Given the description of an element on the screen output the (x, y) to click on. 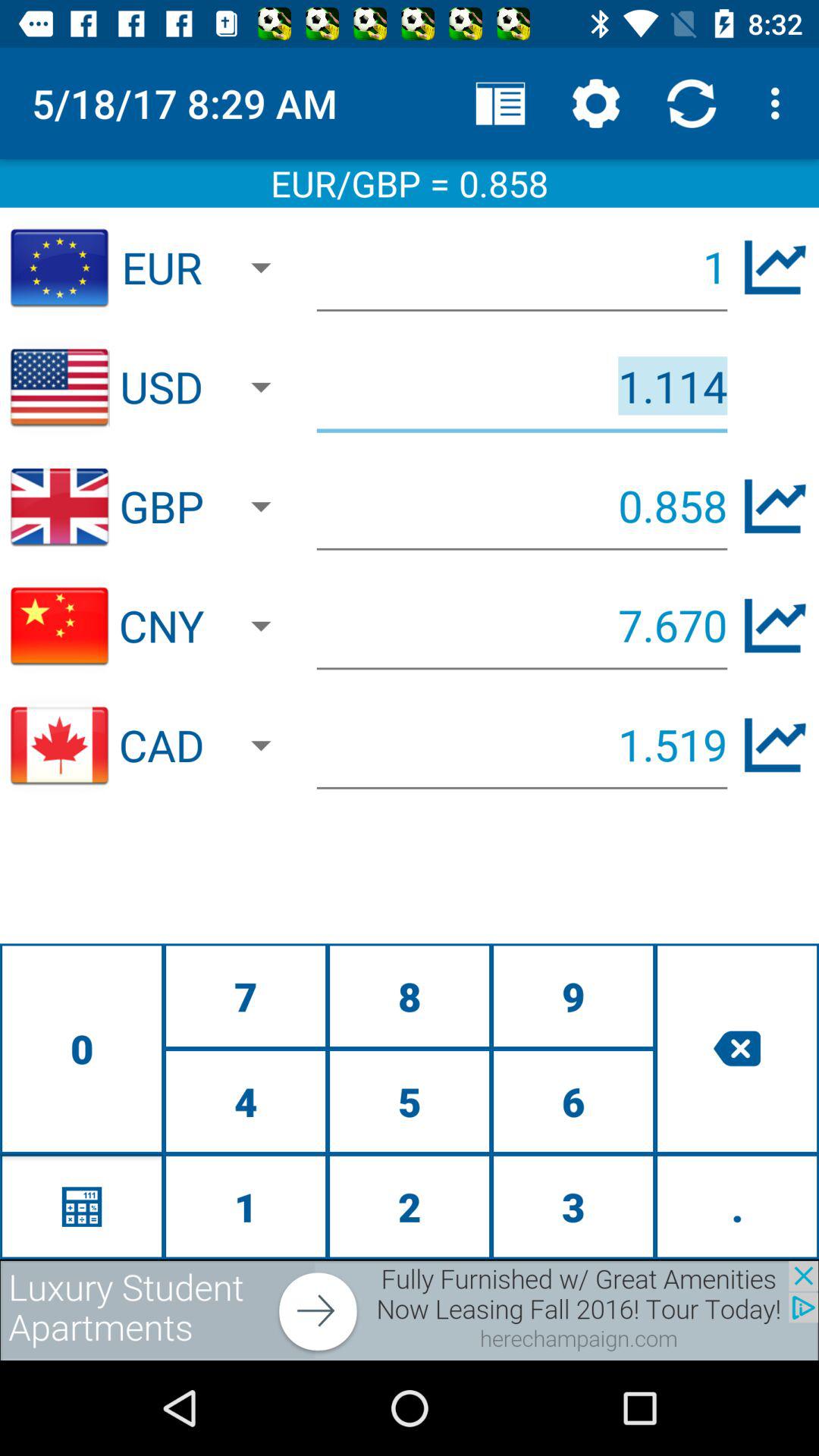
open graph (775, 267)
